Given the description of an element on the screen output the (x, y) to click on. 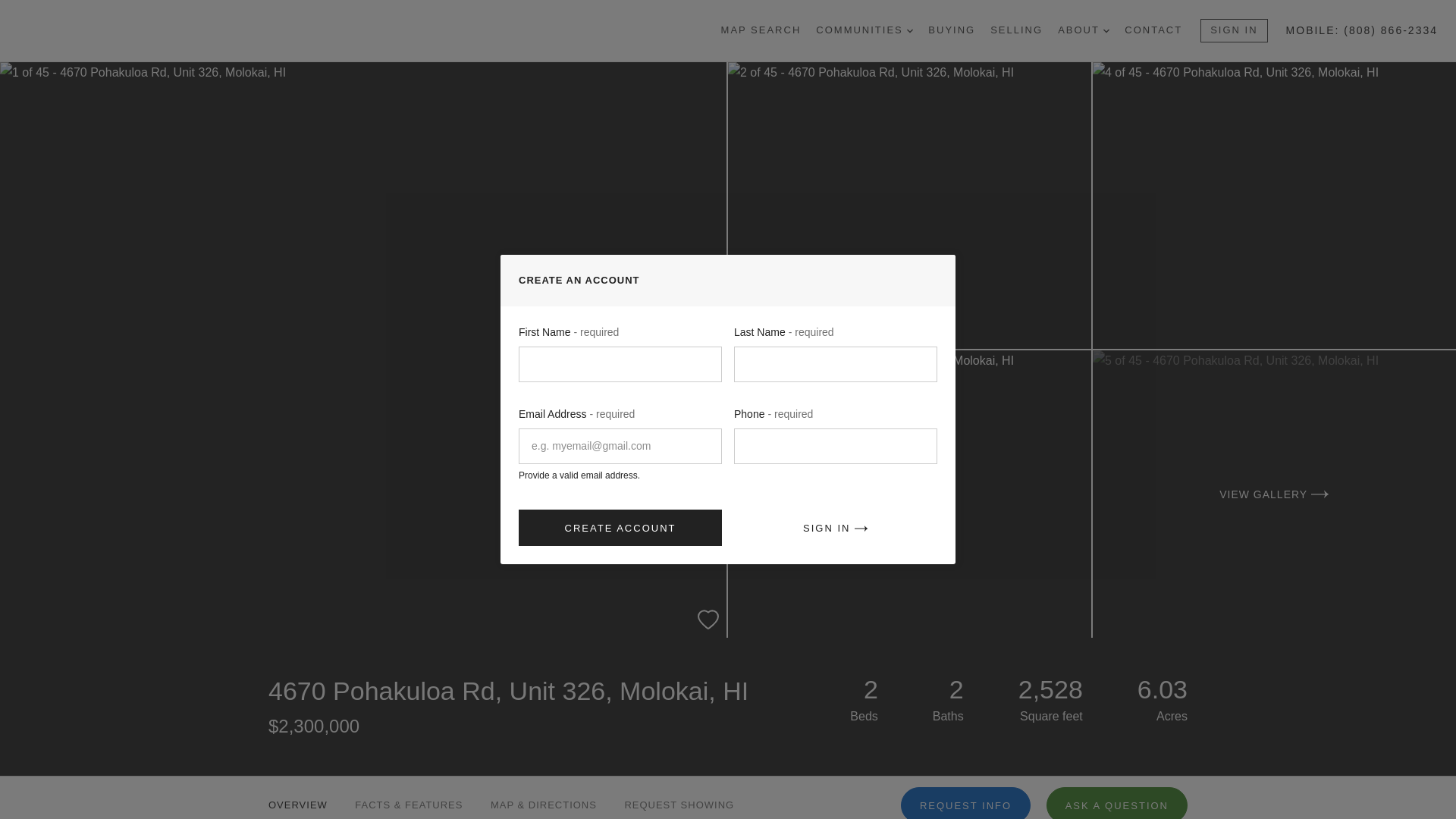
DROPDOWN ARROW (1106, 30)
DROPDOWN ARROW (909, 30)
REQUEST SHOWING (678, 797)
COMMUNITIES DROPDOWN ARROW (863, 30)
OVERVIEW (297, 797)
MAP SEARCH (761, 30)
ASK A QUESTION (1117, 803)
CONTACT (1153, 30)
REQUEST INFO (965, 803)
ABOUT DROPDOWN ARROW (1083, 30)
SIGN IN (1232, 30)
SELLING (1016, 30)
BUYING (951, 30)
